Given the description of an element on the screen output the (x, y) to click on. 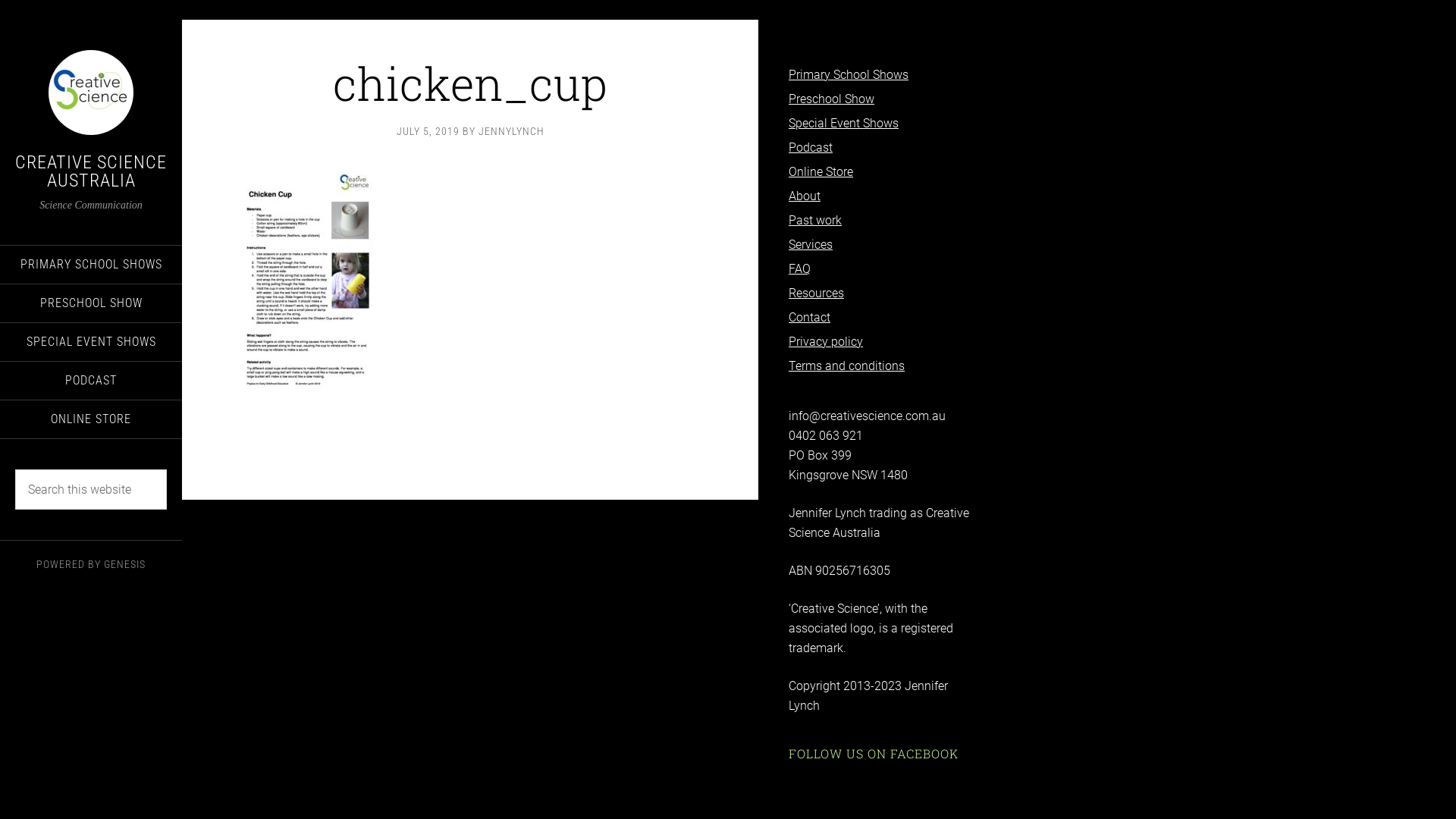
Resources Element type: text (816, 292)
Contact Element type: text (809, 317)
Special Event Shows Element type: text (843, 123)
CREATIVE SCIENCE AUSTRALIA Element type: text (90, 171)
Terms and conditions Element type: text (846, 365)
Preschool Show Element type: text (831, 98)
PODCAST Element type: text (91, 380)
Online Store Element type: text (820, 171)
Privacy policy Element type: text (825, 341)
Google+ Element type: text (22, 9)
Search Element type: text (166, 468)
PRESCHOOL SHOW Element type: text (91, 303)
Podcast Element type: text (810, 147)
GENESIS Element type: text (124, 564)
JENNYLYNCH Element type: text (510, 131)
Services Element type: text (810, 244)
SPECIAL EVENT SHOWS Element type: text (91, 341)
Primary School Shows Element type: text (848, 74)
FAQ Element type: text (799, 268)
ONLINE STORE Element type: text (91, 419)
PRIMARY SCHOOL SHOWS Element type: text (91, 264)
Past work Element type: text (814, 220)
About Element type: text (804, 195)
